Given the description of an element on the screen output the (x, y) to click on. 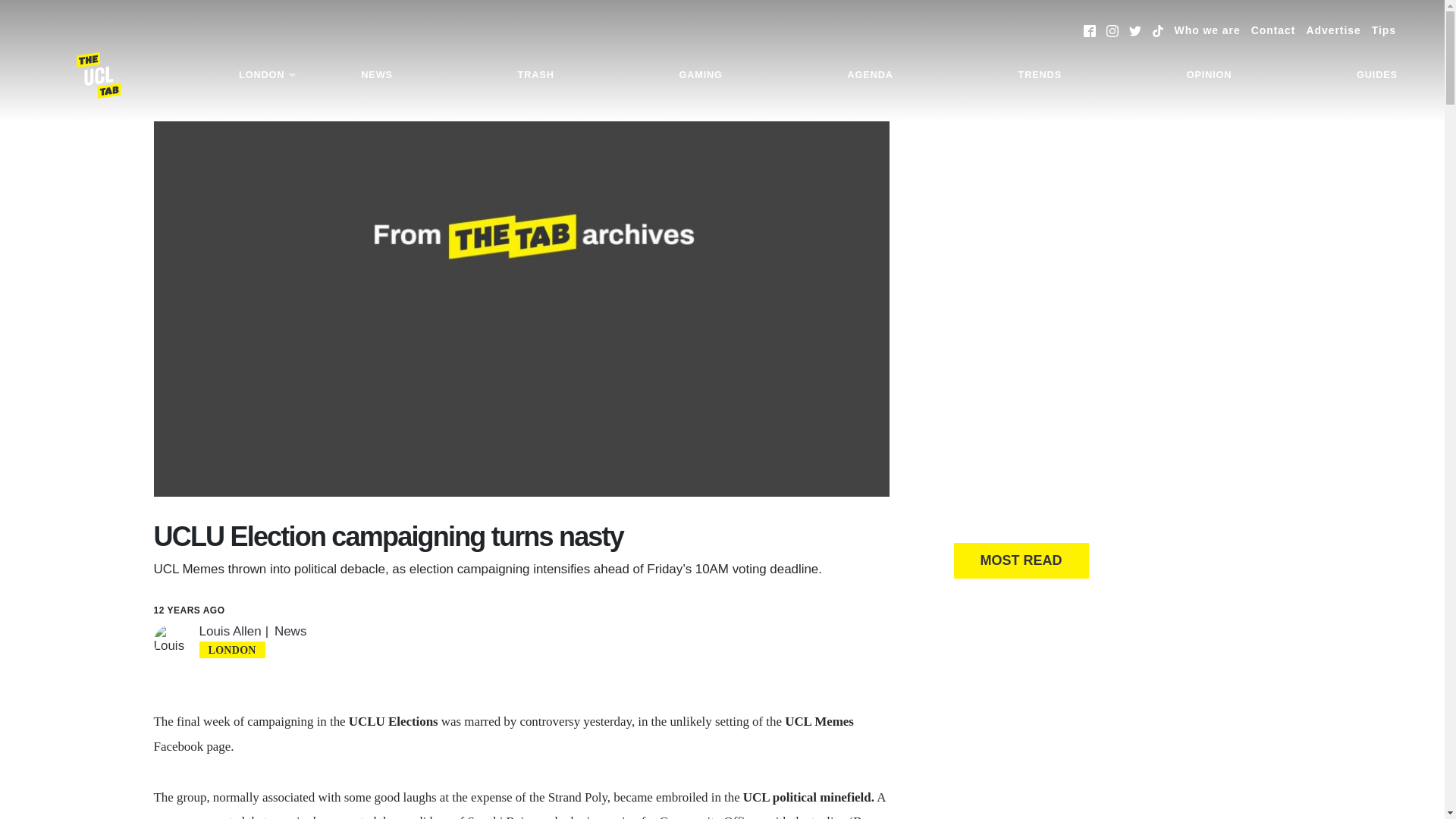
OPINION (1208, 75)
AGENDA (869, 75)
NEWS (376, 75)
LONDON (267, 75)
GAMING (699, 75)
Advertise (1332, 29)
Contact (1272, 29)
Who we are (1207, 29)
TRENDS (1040, 75)
Tips (1383, 29)
TRASH (536, 75)
GUIDES (1377, 75)
